Given the description of an element on the screen output the (x, y) to click on. 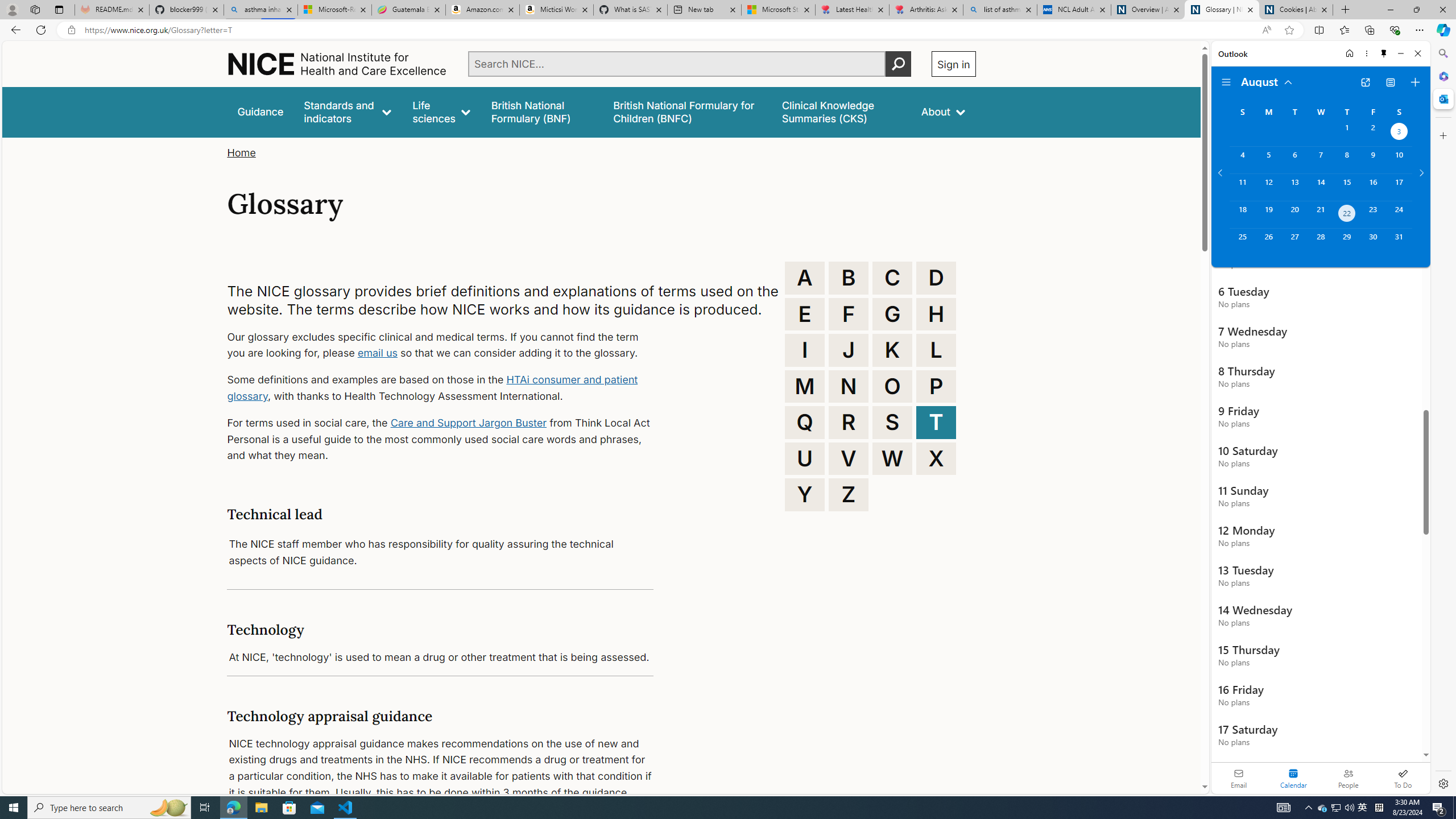
E (804, 313)
Friday, August 9, 2024.  (1372, 159)
Monday, August 26, 2024.  (1268, 241)
Wednesday, August 28, 2024.  (1320, 241)
Folder navigation (1225, 82)
R (848, 422)
email us (376, 353)
F (848, 313)
